Given the description of an element on the screen output the (x, y) to click on. 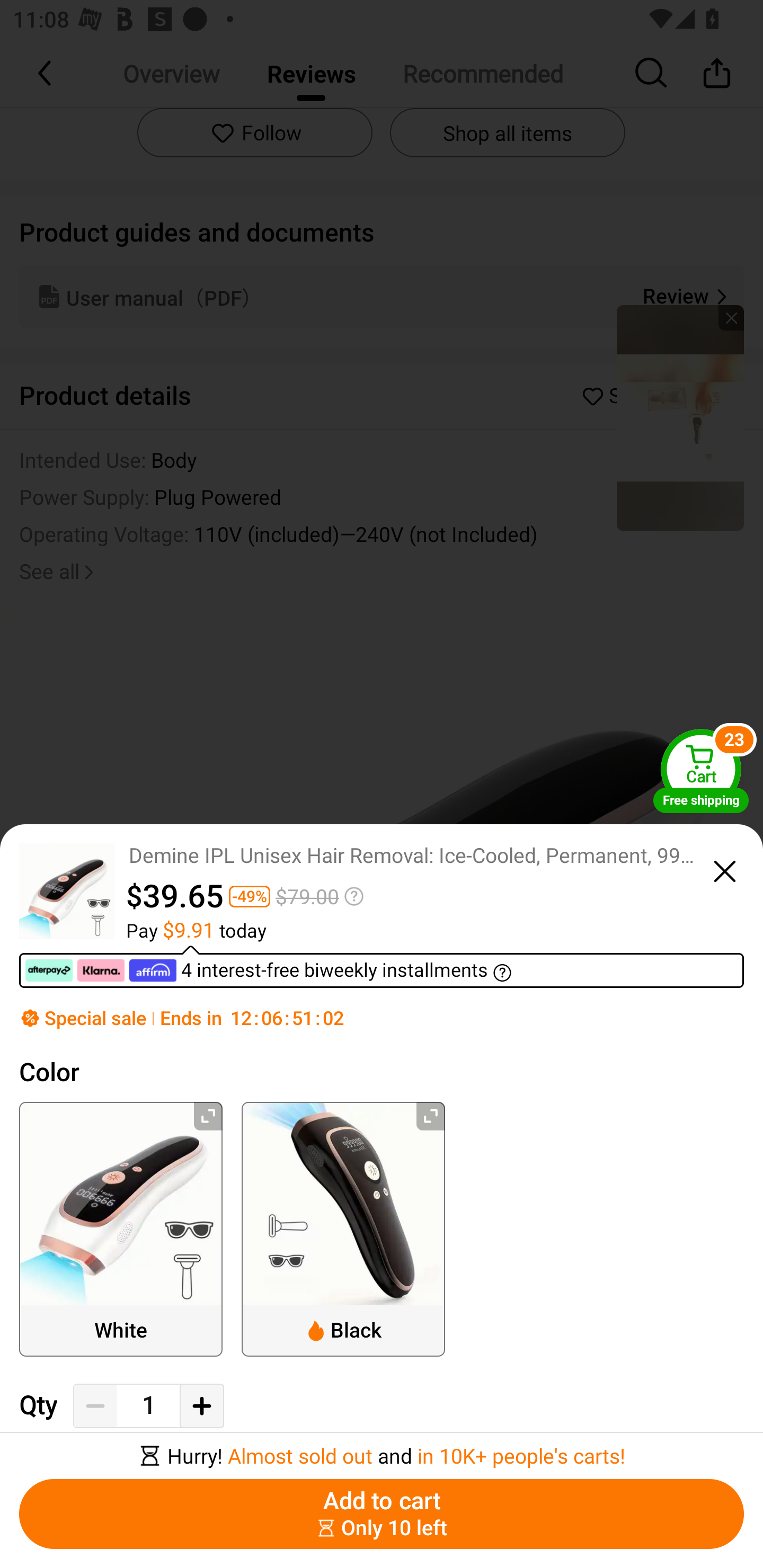
Cart Free shipping Cart (701, 770)
close (724, 868)
￼ ￼ ￼ 4 interest-free biweekly installments ￼ (381, 966)
White (120, 1229)
Black ￼Black (342, 1229)
Decrease Quantity Button (95, 1405)
Add Quantity Button (201, 1405)
1 (148, 1405)
Add to cart ￼￼Only 10 left (381, 1513)
